Given the description of an element on the screen output the (x, y) to click on. 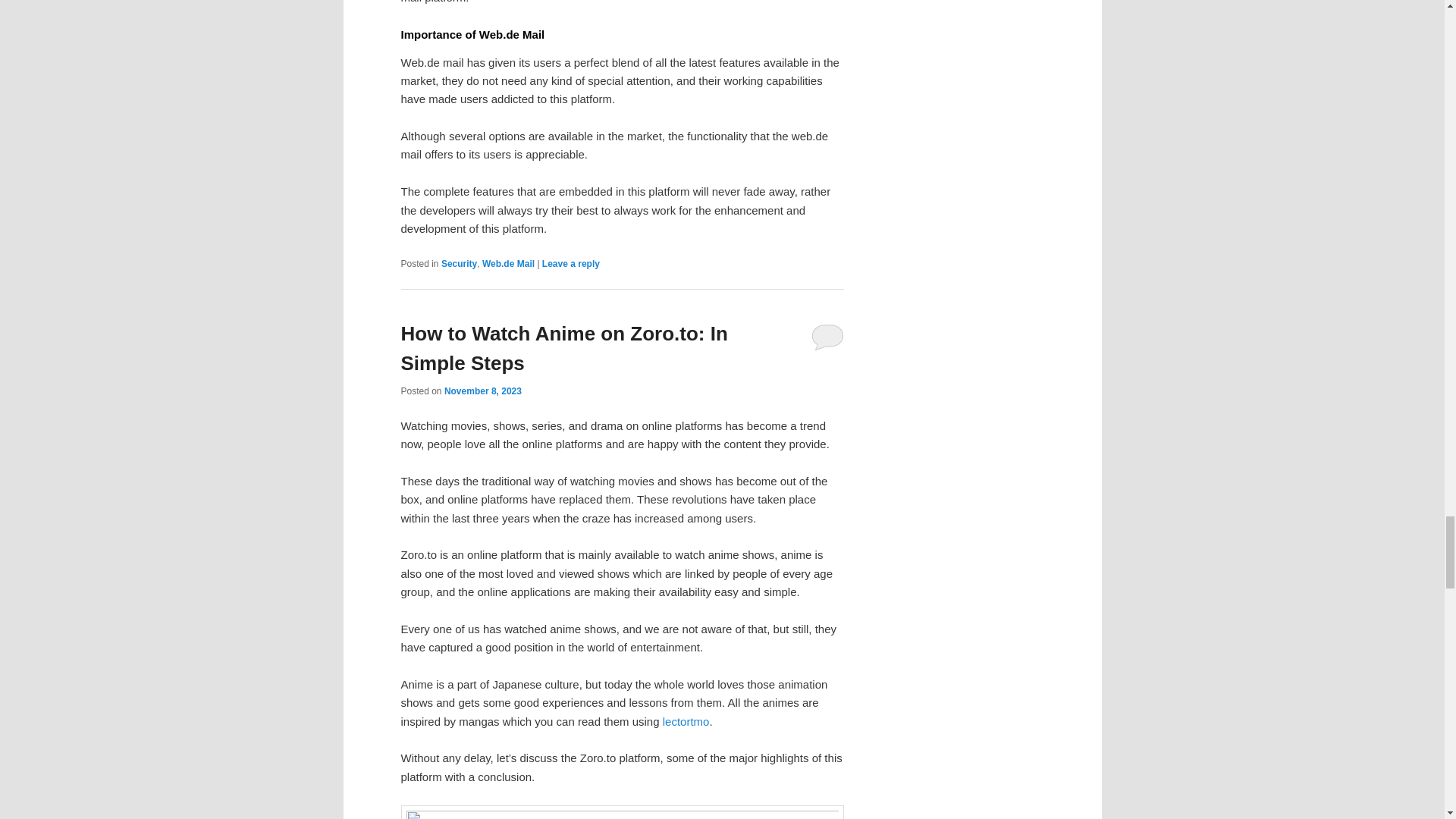
Web.de Mail (507, 263)
How to Watch Anime on Zoro.to: In Simple Steps (563, 348)
12:43 pm (482, 390)
Leave a reply (570, 263)
Security (459, 263)
lectortmo (686, 721)
November 8, 2023 (482, 390)
